Given the description of an element on the screen output the (x, y) to click on. 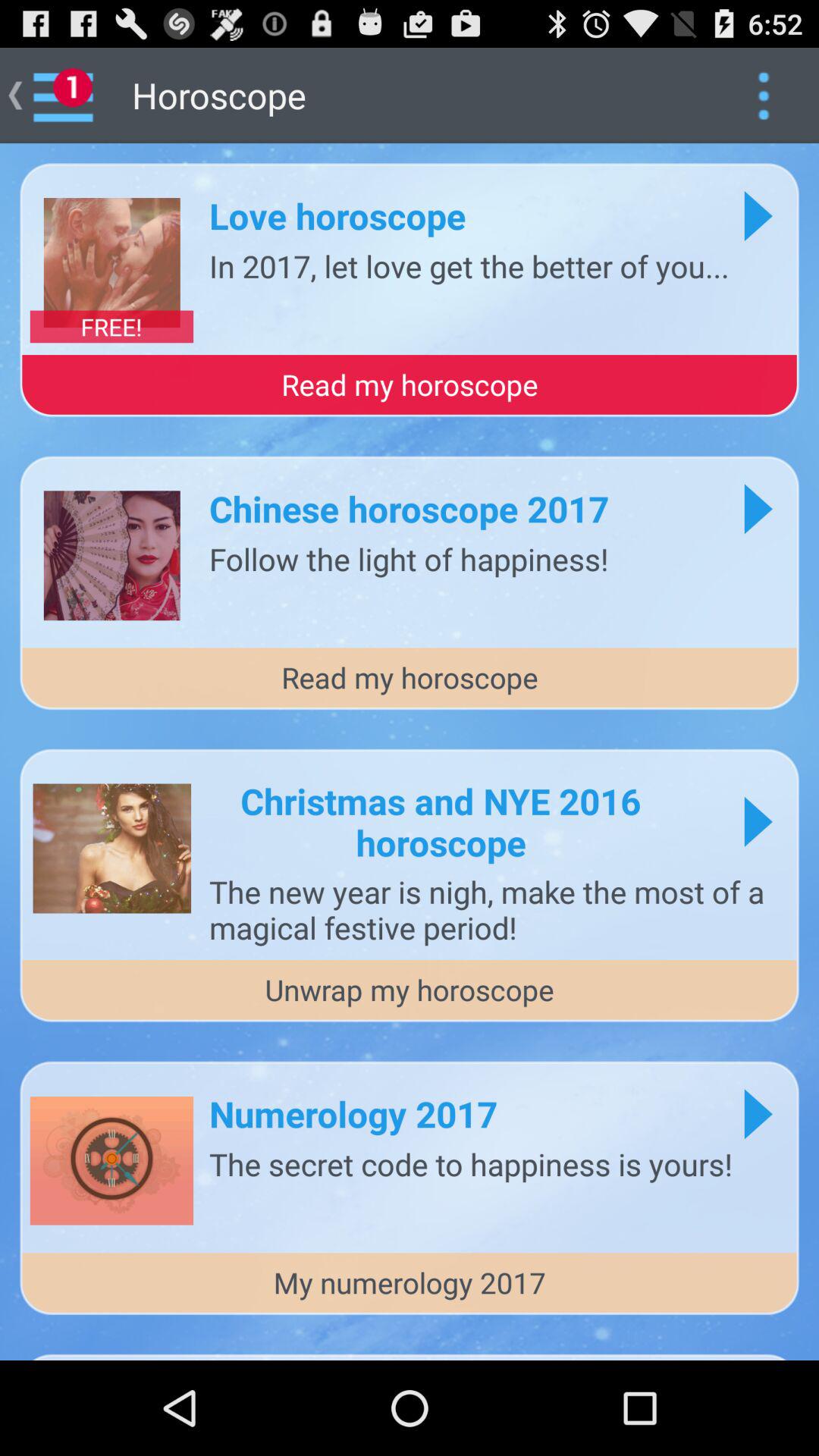
swipe until follow the light icon (408, 558)
